Given the description of an element on the screen output the (x, y) to click on. 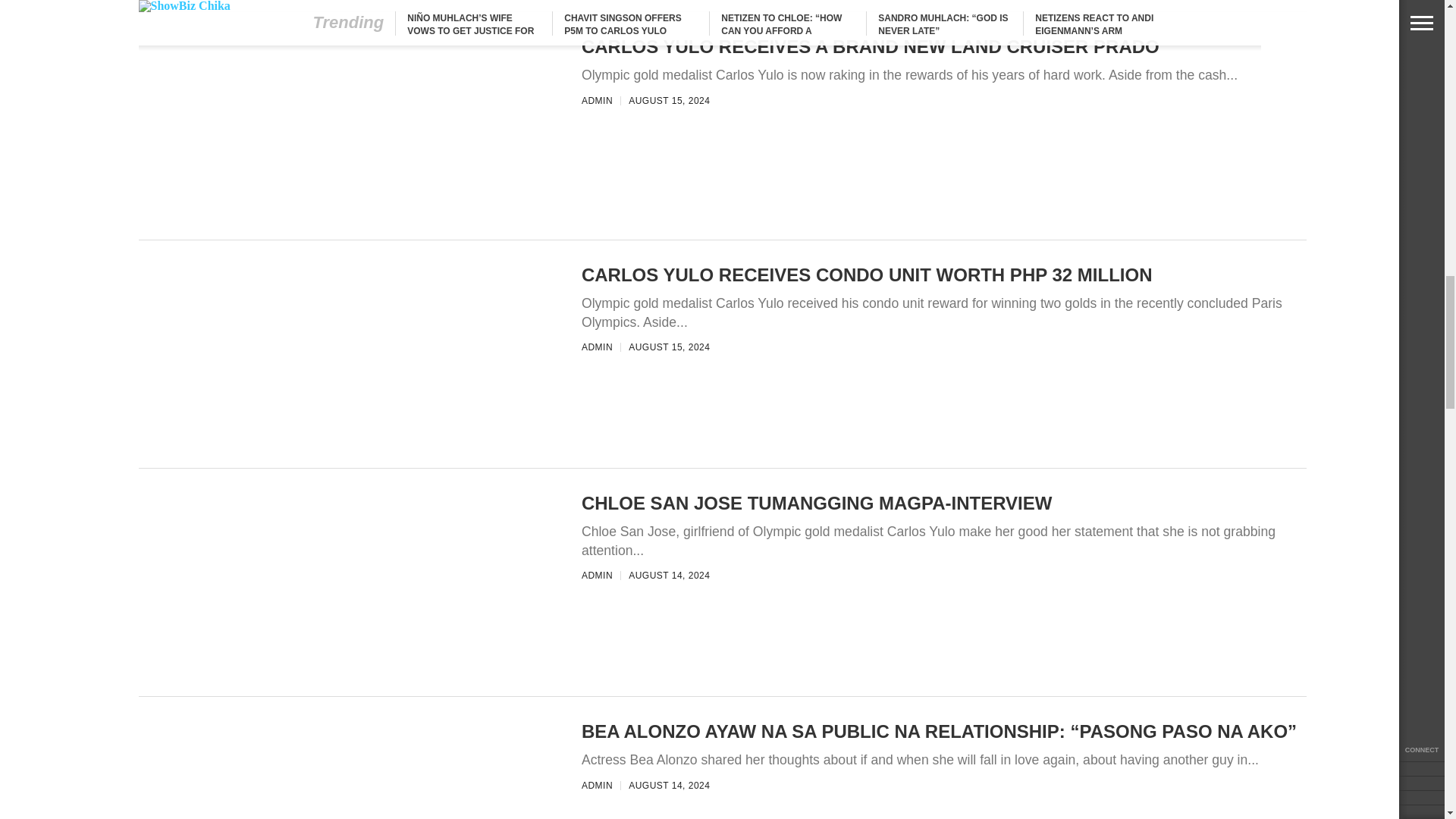
Carlos Yulo receives a brand new Land Cruiser Prado (344, 442)
Carlos Yulo receives condo unit worth PhP 32 million (344, 671)
Chavit Singson offers P5M to Carlos Yulo under one condition (344, 214)
